Given the description of an element on the screen output the (x, y) to click on. 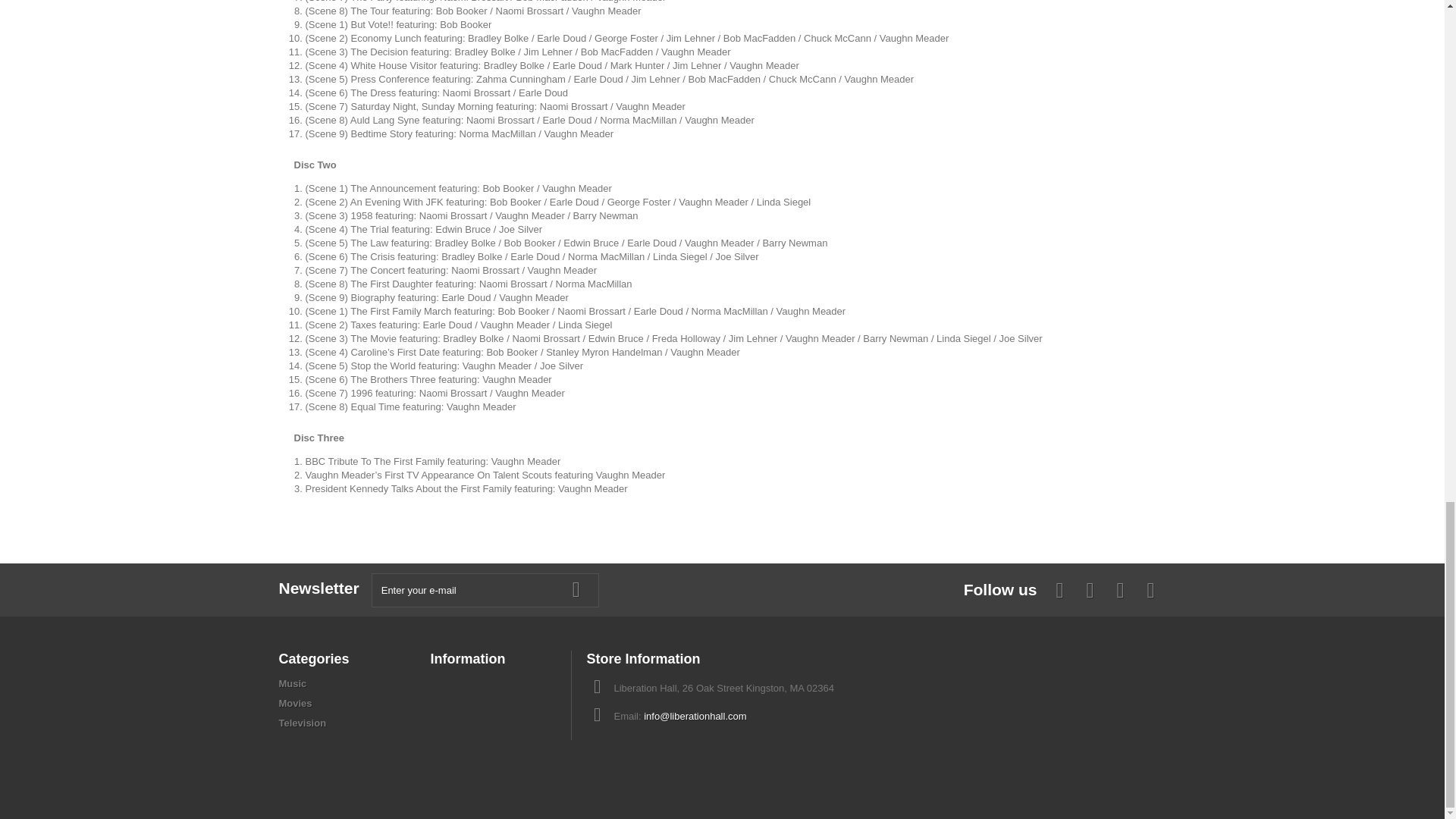
Television (302, 722)
Music (293, 683)
The best classic music on vinyl, CD and digital (293, 683)
Enter your e-mail (484, 590)
Movies (296, 703)
